Given the description of an element on the screen output the (x, y) to click on. 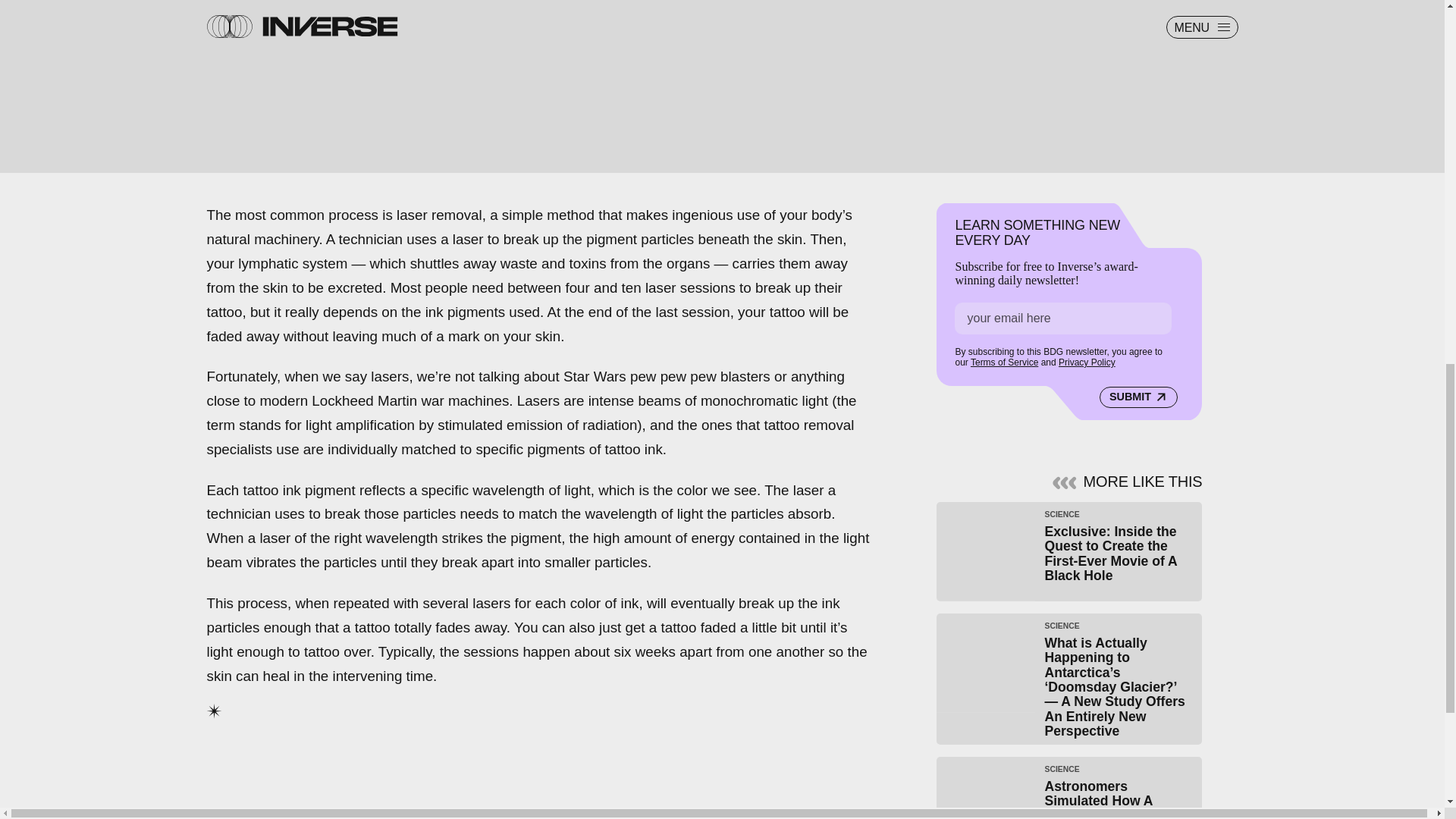
Privacy Policy (1086, 357)
Terms of Service (1004, 357)
SUBMIT (1138, 390)
